Given the description of an element on the screen output the (x, y) to click on. 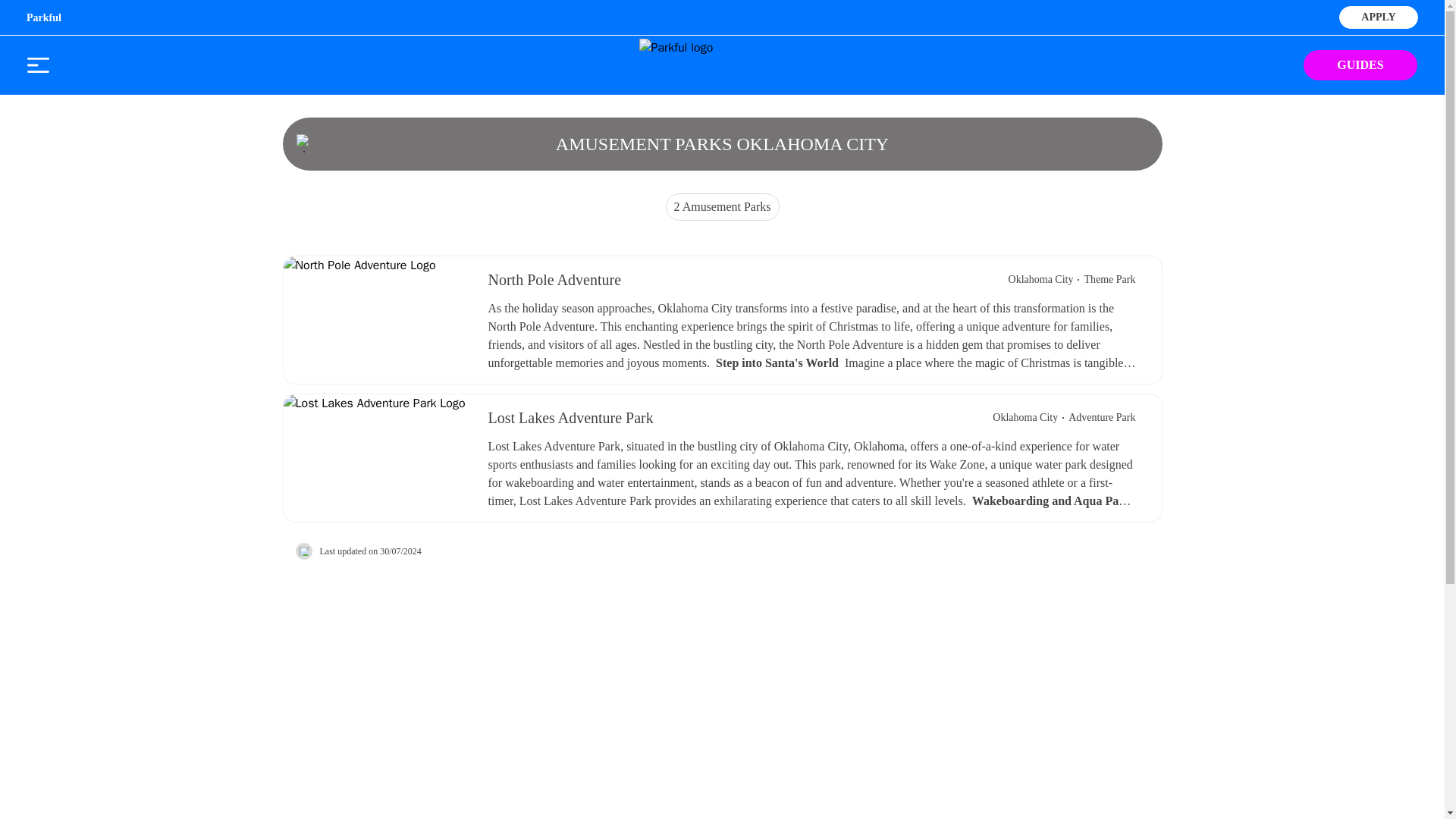
APPLY (1377, 15)
GUIDES (1359, 64)
Parkful (43, 17)
